Given the description of an element on the screen output the (x, y) to click on. 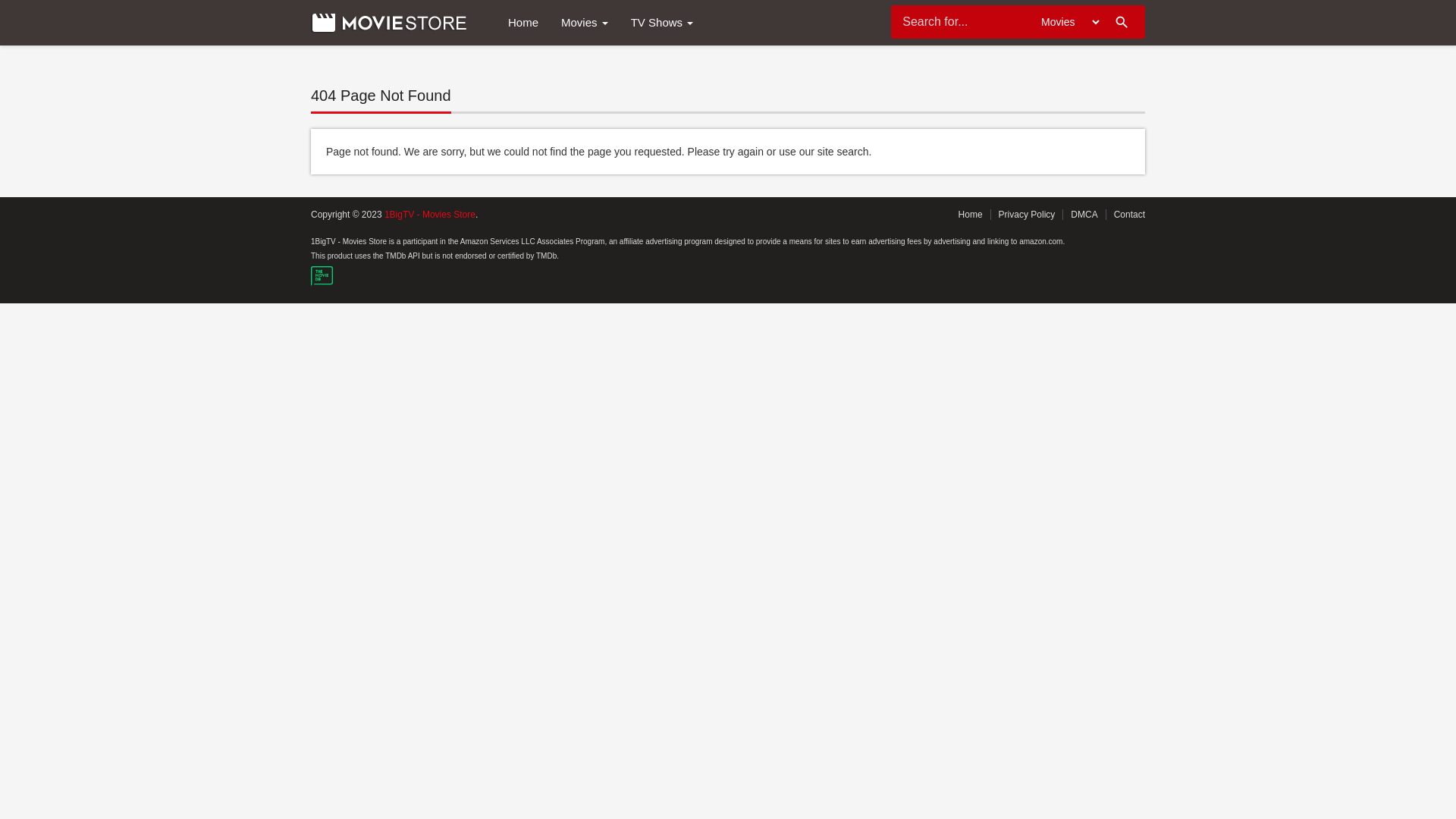
Privacy Policy Element type: text (1026, 214)
TV Shows Element type: text (662, 22)
Contact Element type: text (1129, 214)
search Element type: text (1118, 23)
Movies Element type: text (584, 22)
DMCA Element type: text (1083, 214)
Home Element type: text (970, 214)
Home Element type: text (522, 22)
